Given the description of an element on the screen output the (x, y) to click on. 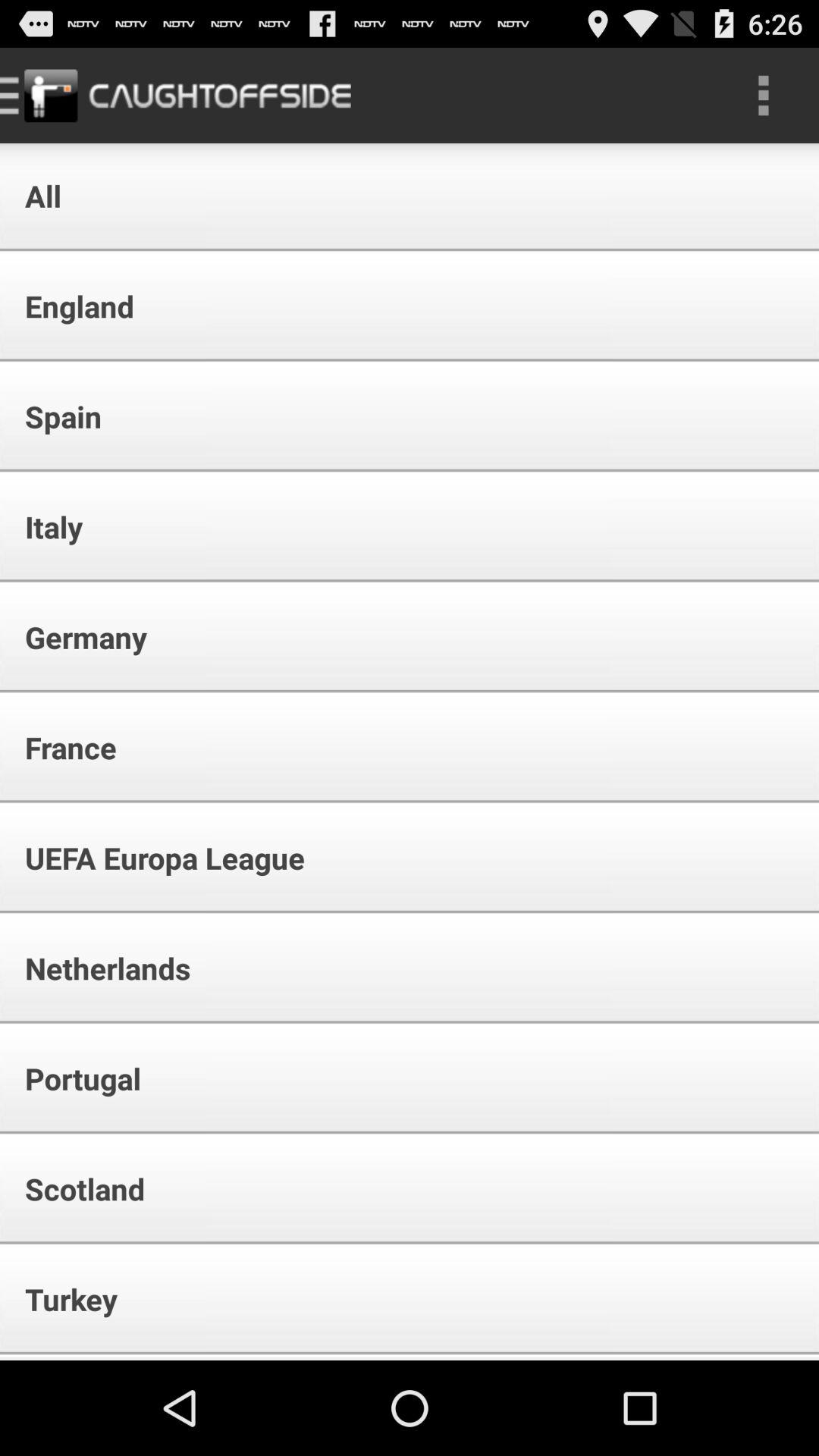
flip until spain item (53, 416)
